Given the description of an element on the screen output the (x, y) to click on. 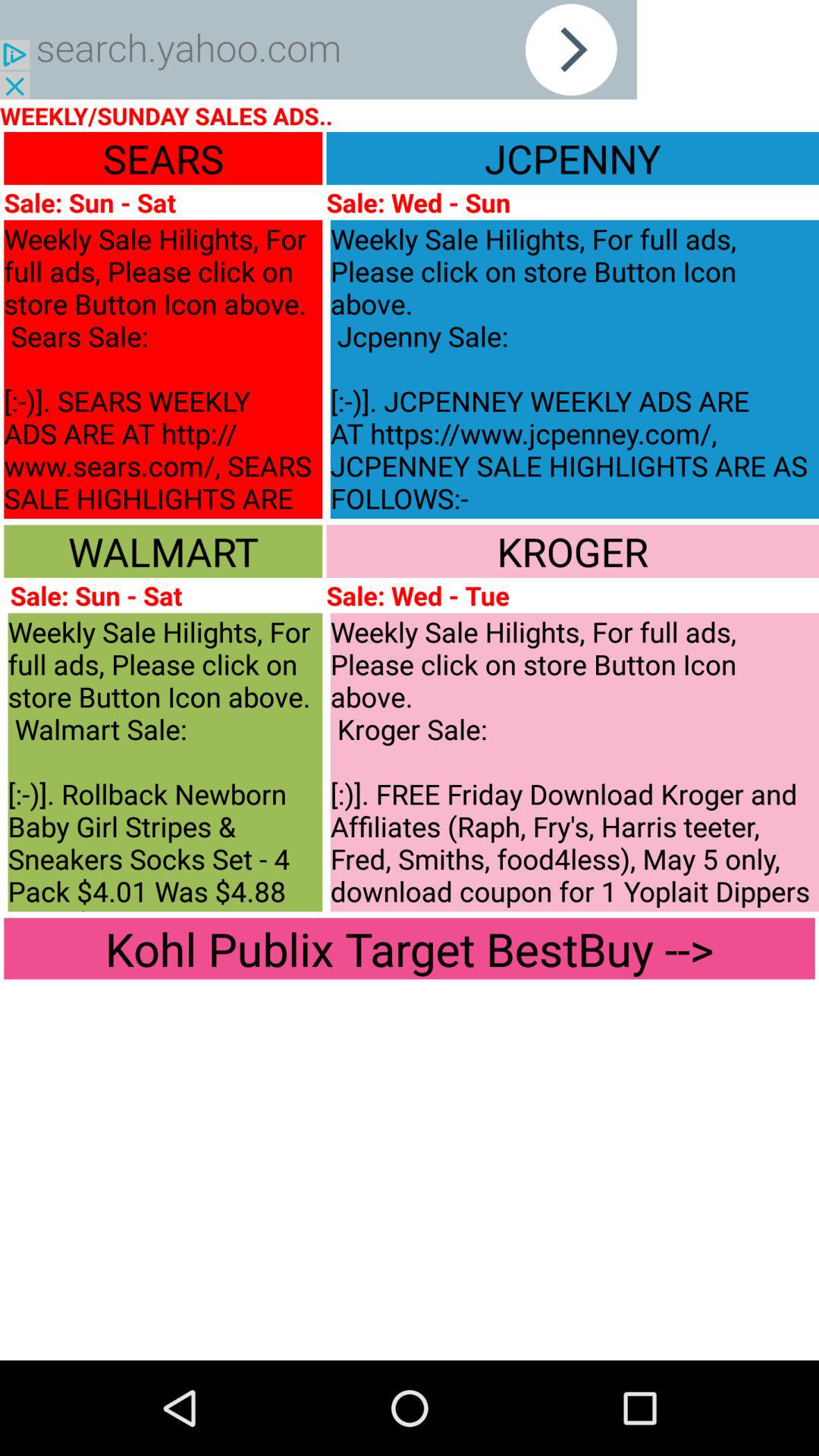
it is searching key (318, 49)
